Given the description of an element on the screen output the (x, y) to click on. 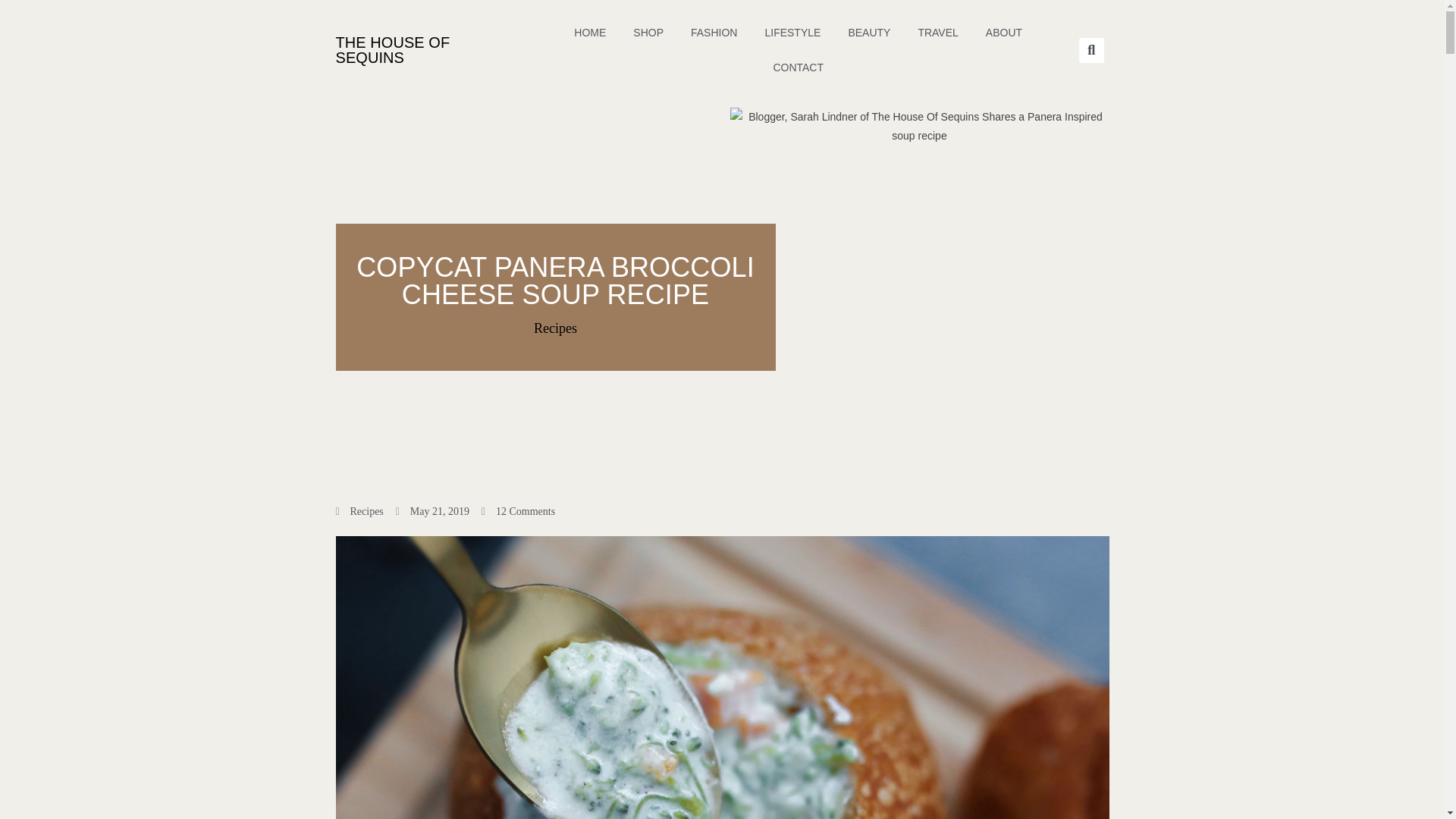
LIFESTYLE (792, 32)
BEAUTY (869, 32)
CONTACT (797, 67)
SHOP (648, 32)
12 Comments (517, 511)
Recipes (367, 511)
HOME (590, 32)
TRAVEL (937, 32)
FASHION (714, 32)
ABOUT (1003, 32)
Recipes (555, 328)
THE HOUSE OF SEQUINS (391, 50)
May 21, 2019 (432, 511)
